Given the description of an element on the screen output the (x, y) to click on. 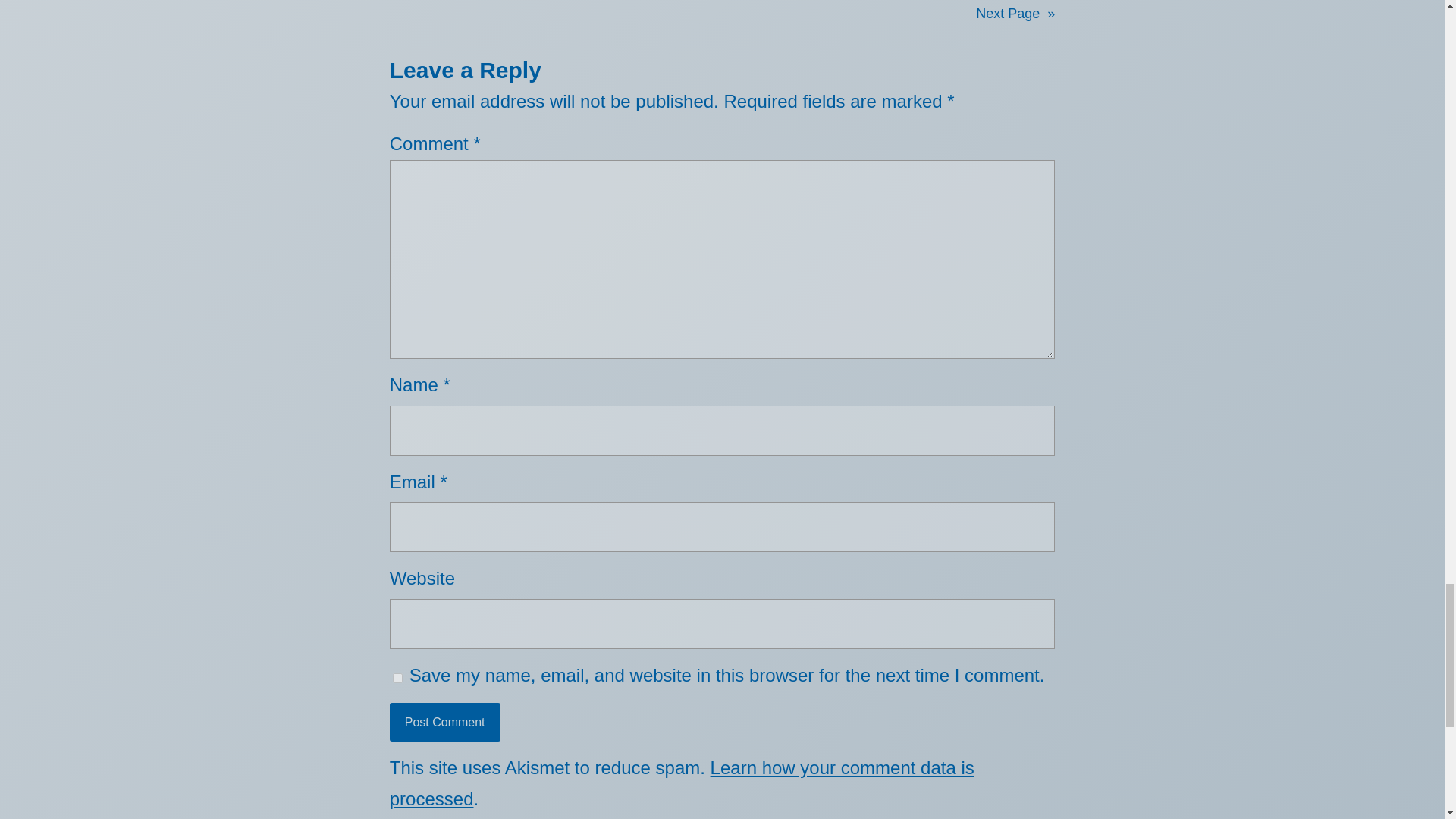
Learn how your comment data is processed (682, 783)
Post Comment (445, 722)
Post Comment (445, 722)
